Given the description of an element on the screen output the (x, y) to click on. 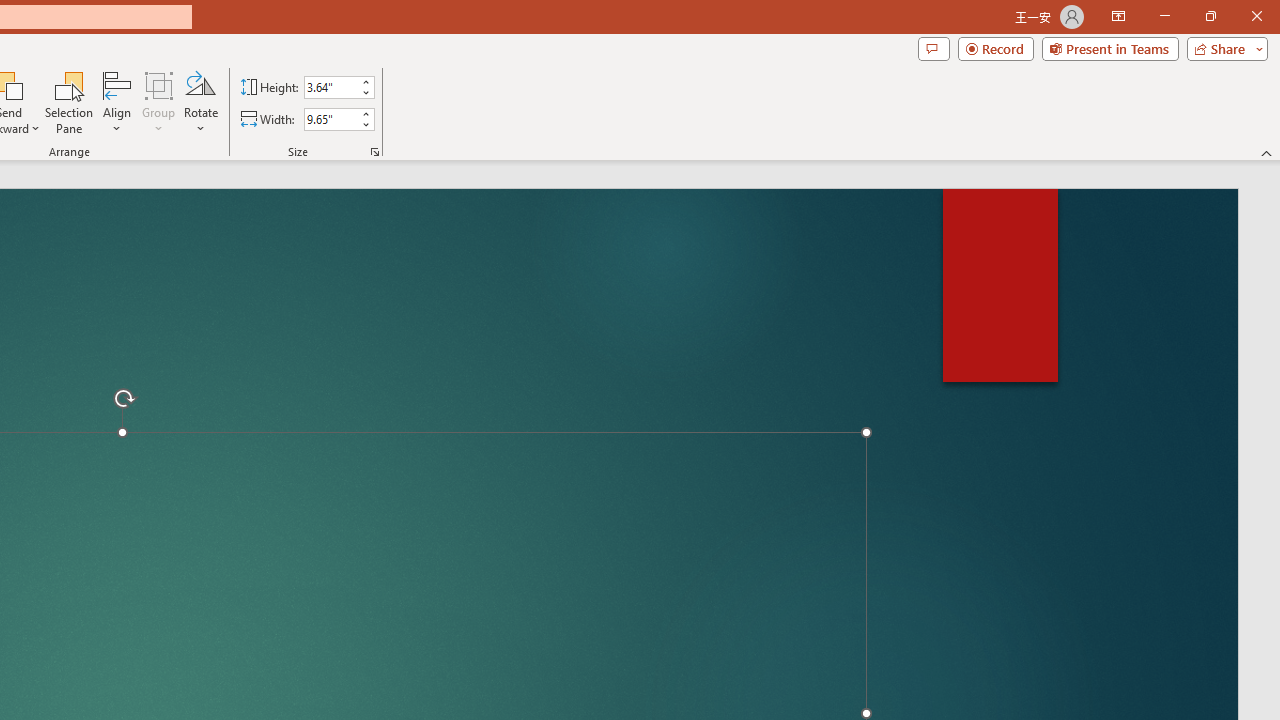
Shape Height (330, 87)
Selection Pane... (69, 102)
Rotate (200, 102)
Size and Position... (374, 151)
